Given the description of an element on the screen output the (x, y) to click on. 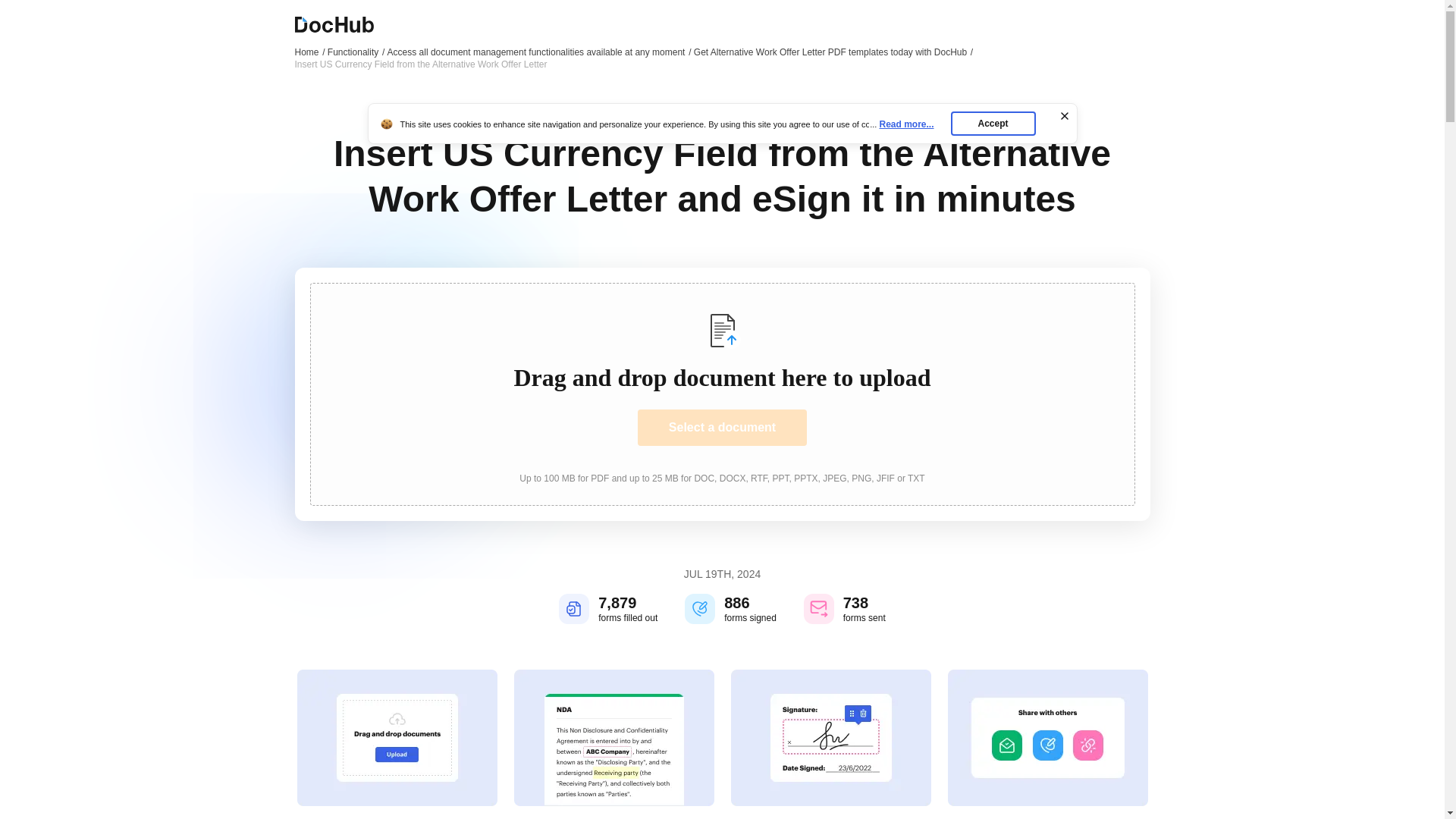
Home (309, 51)
Functionality (355, 51)
Select a document (721, 427)
